Given the description of an element on the screen output the (x, y) to click on. 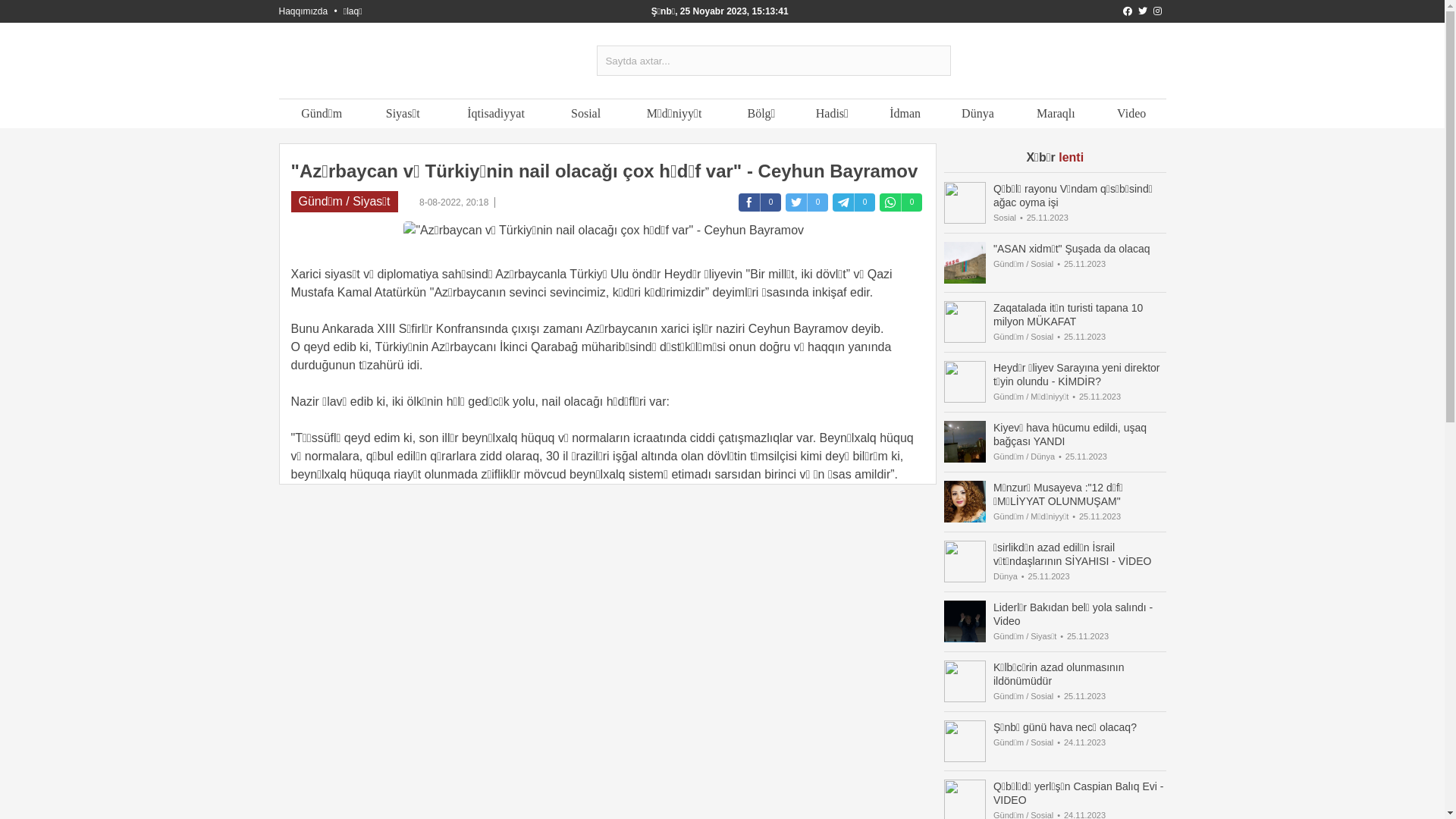
Video Element type: text (1131, 113)
Tereqqi.az Element type: text (396, 66)
Sosial Element type: text (586, 113)
